Given the description of an element on the screen output the (x, y) to click on. 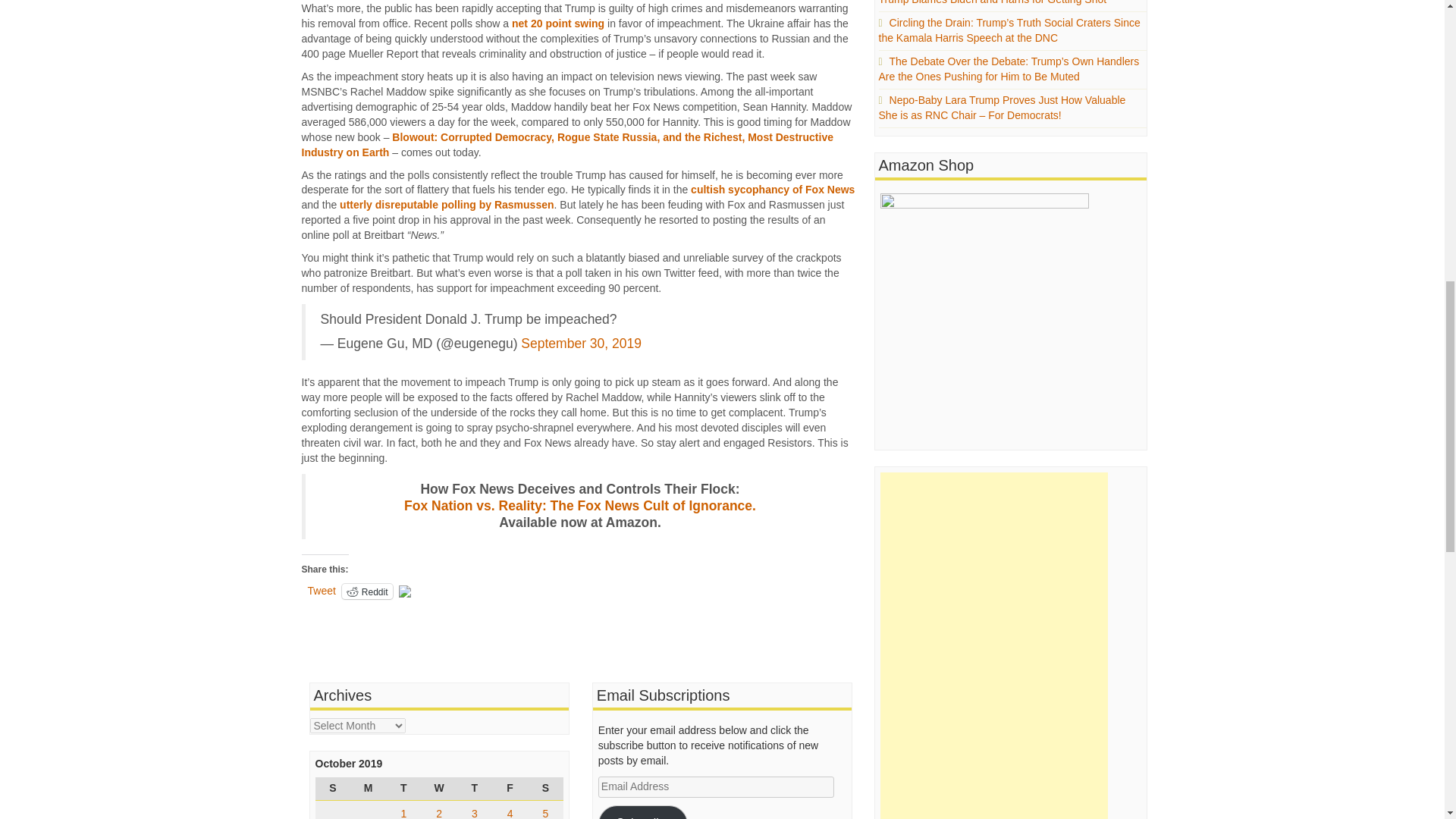
cultish sycophancy of Fox News (772, 189)
net 20 point swing (558, 23)
utterly disreputable polling by Rasmussen (446, 204)
Monday (367, 788)
September 30, 2019 (581, 343)
Thursday (474, 788)
Reddit (367, 590)
Tuesday (403, 788)
Tweet (321, 590)
